Given the description of an element on the screen output the (x, y) to click on. 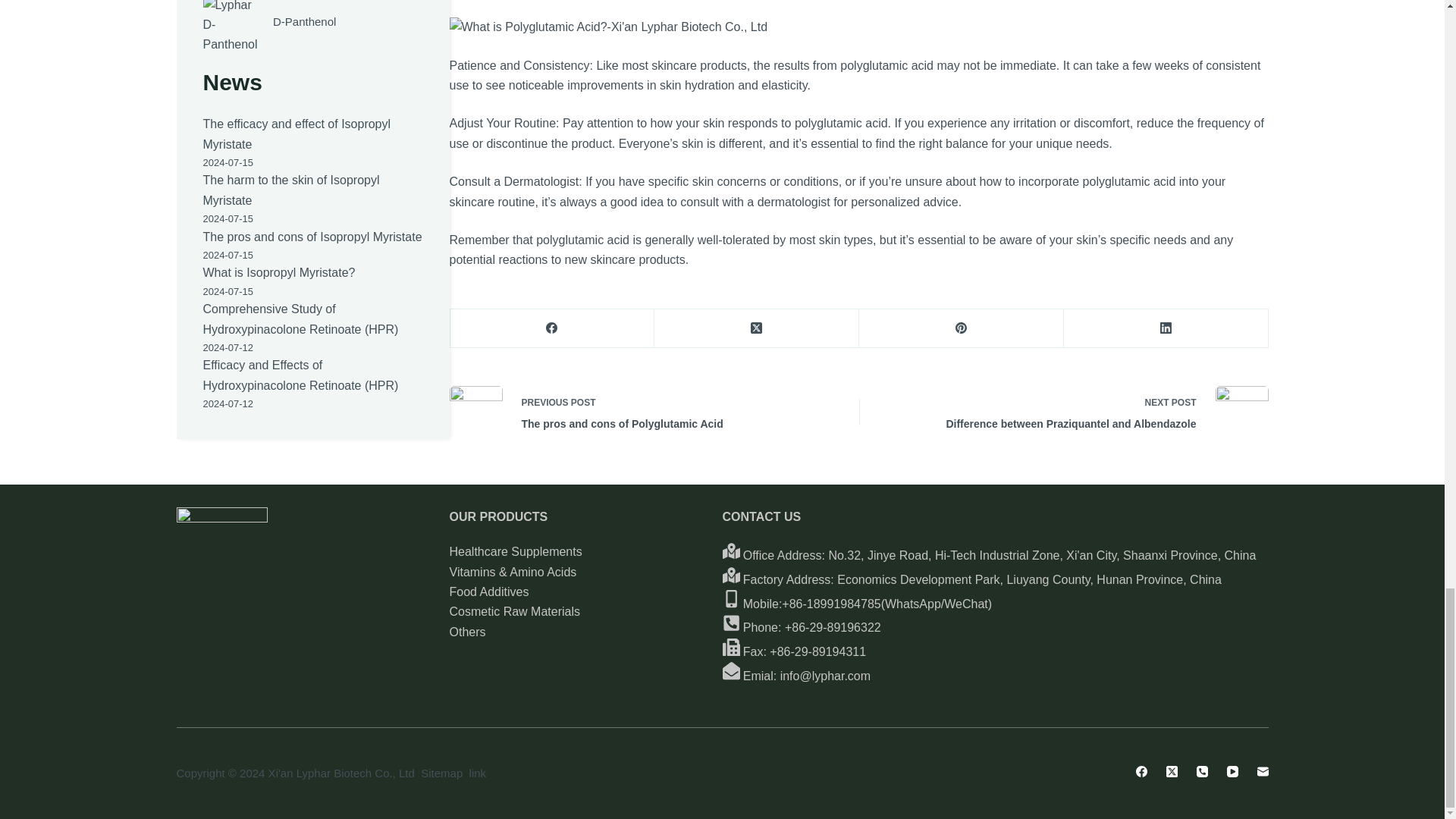
What is Polyglutamic Acid?-Xi'an Lyphar Biotech Co., Ltd (607, 26)
